Given the description of an element on the screen output the (x, y) to click on. 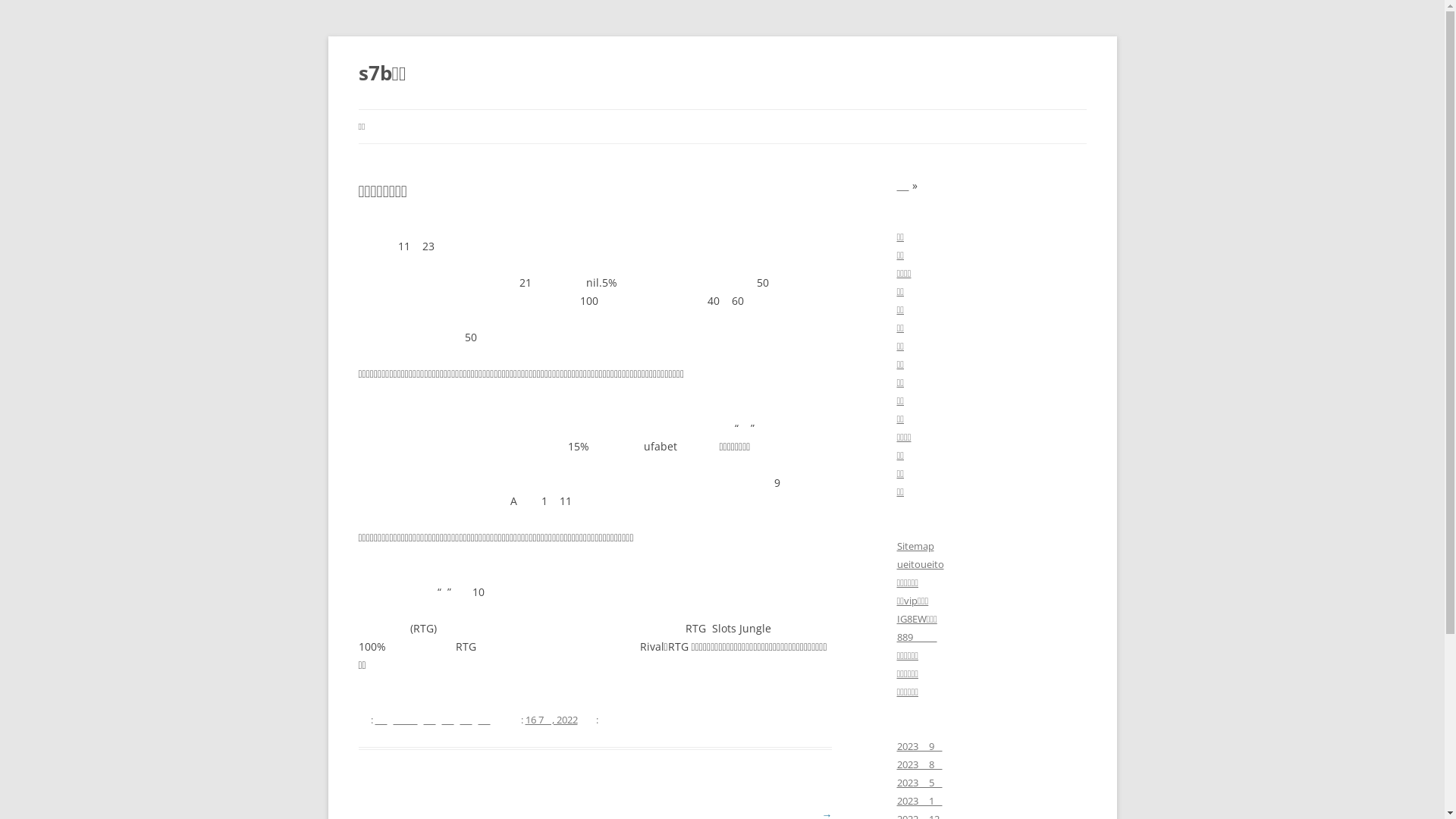
ueitoueito Element type: text (919, 564)
Sitemap Element type: text (914, 545)
